Given the description of an element on the screen output the (x, y) to click on. 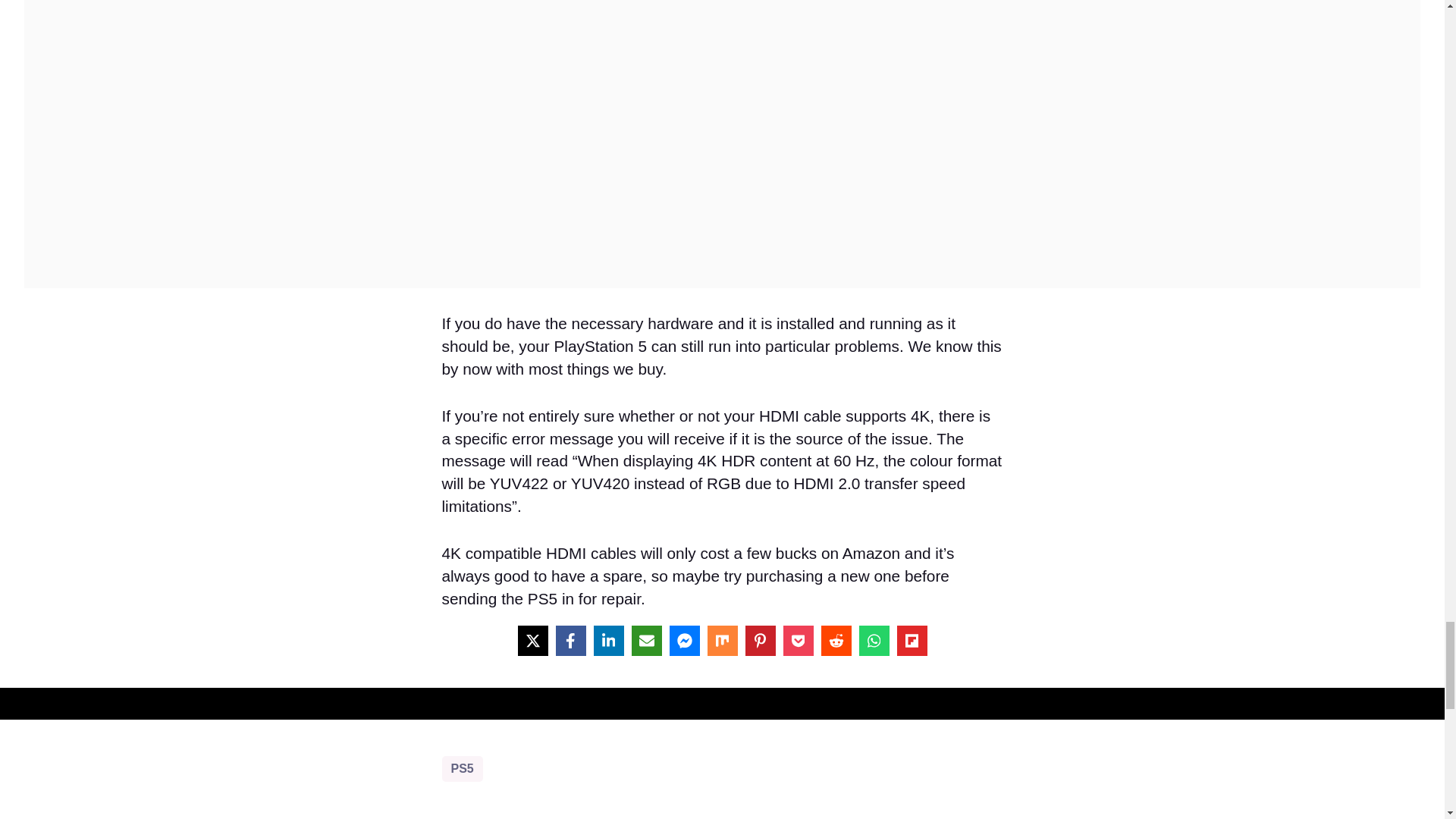
PS5 (461, 768)
